Given the description of an element on the screen output the (x, y) to click on. 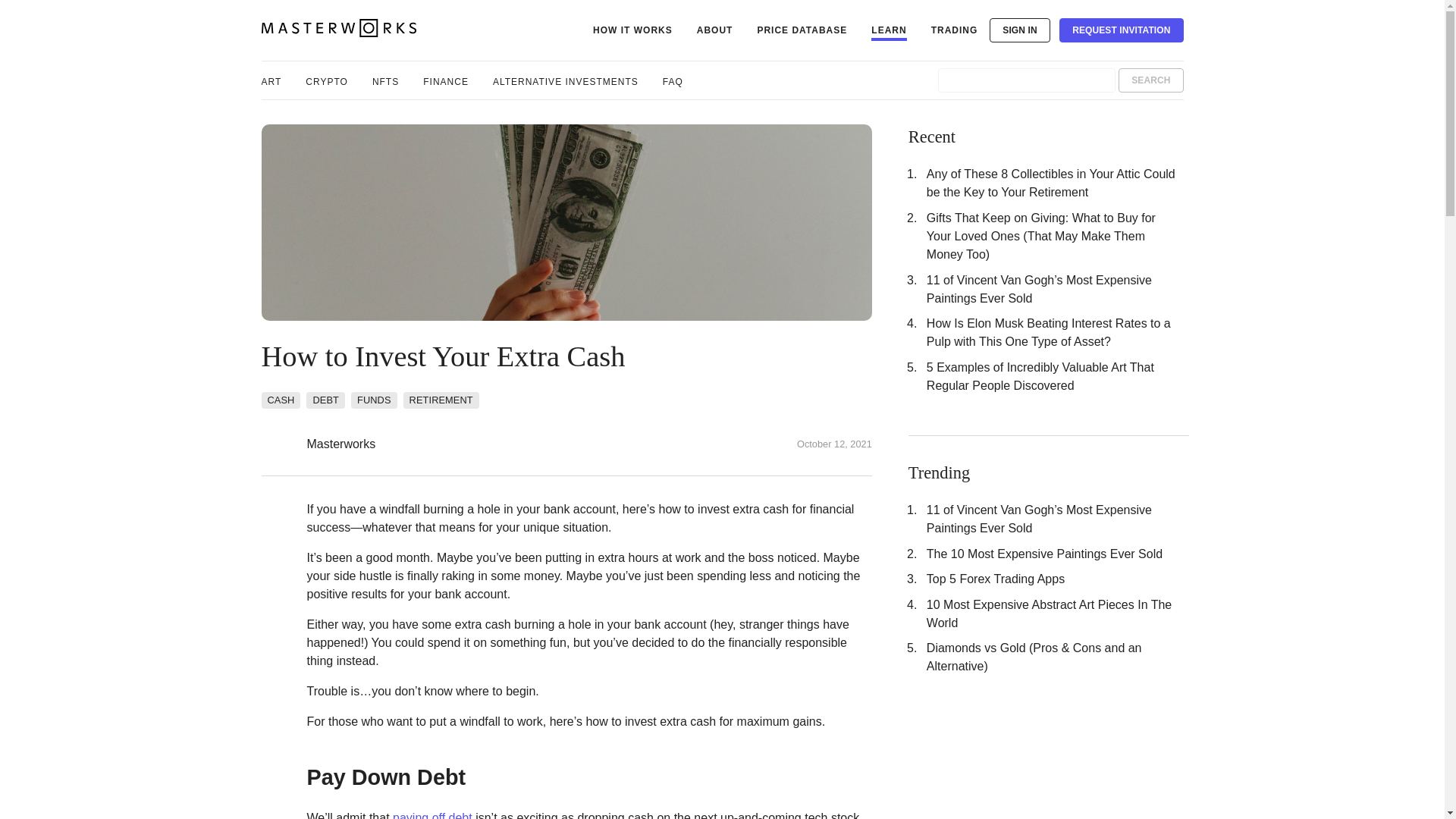
ALTERNATIVE INVESTMENTS (566, 80)
Search (1150, 79)
ART (270, 80)
ABOUT (715, 29)
LEARN (887, 29)
CASH (280, 399)
REQUEST INVITATION (1120, 30)
paying off debt (432, 815)
FINANCE (445, 80)
RETIREMENT (441, 399)
